Given the description of an element on the screen output the (x, y) to click on. 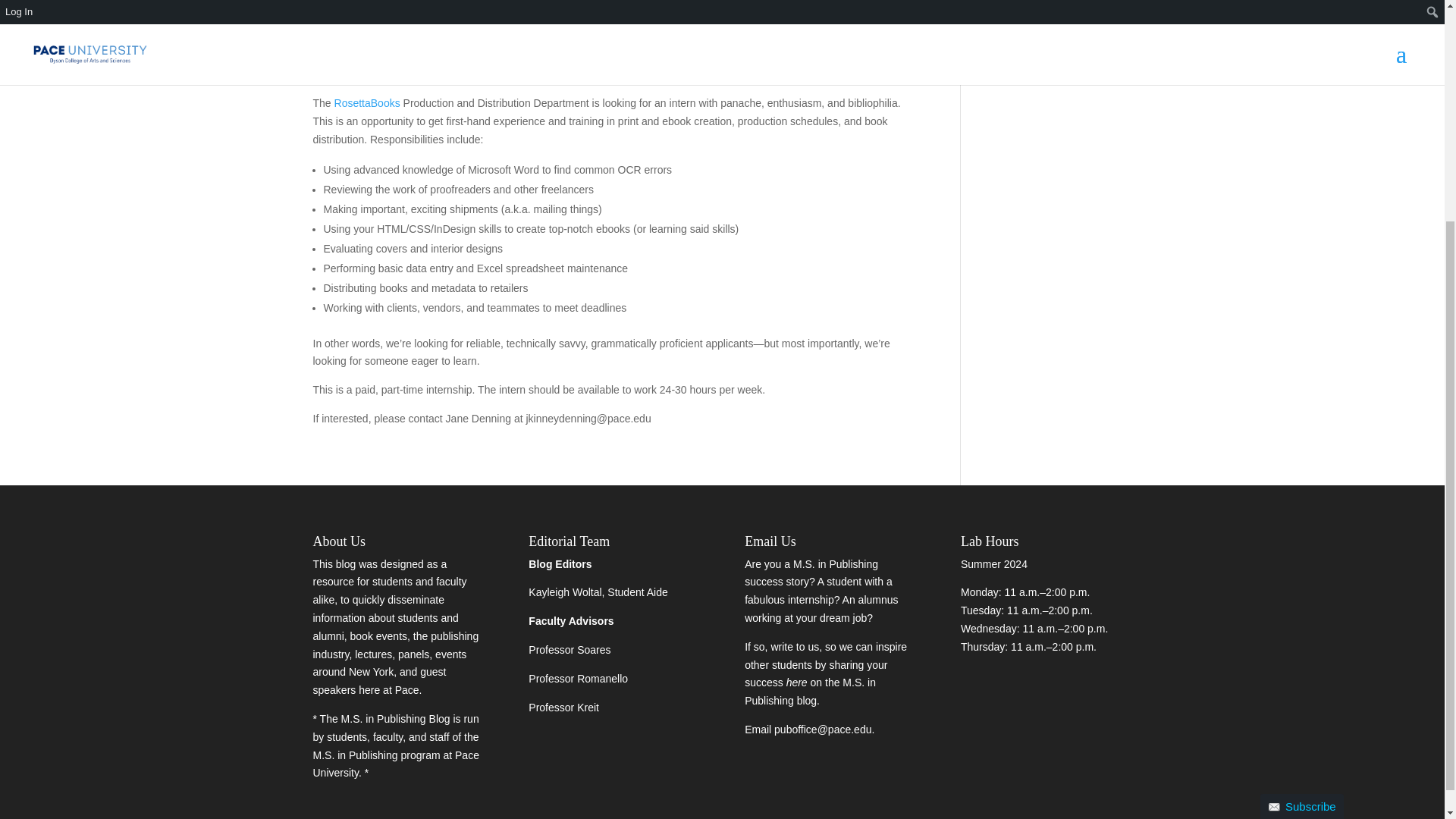
RosettaBooks (367, 102)
Subscribe (1301, 505)
Subscribe me! (1050, 683)
Terms of Service (1104, 657)
Professor Kreit (563, 707)
Professor Romanello (577, 678)
Subscribe me! (1050, 683)
Professor Soares (569, 649)
